Given the description of an element on the screen output the (x, y) to click on. 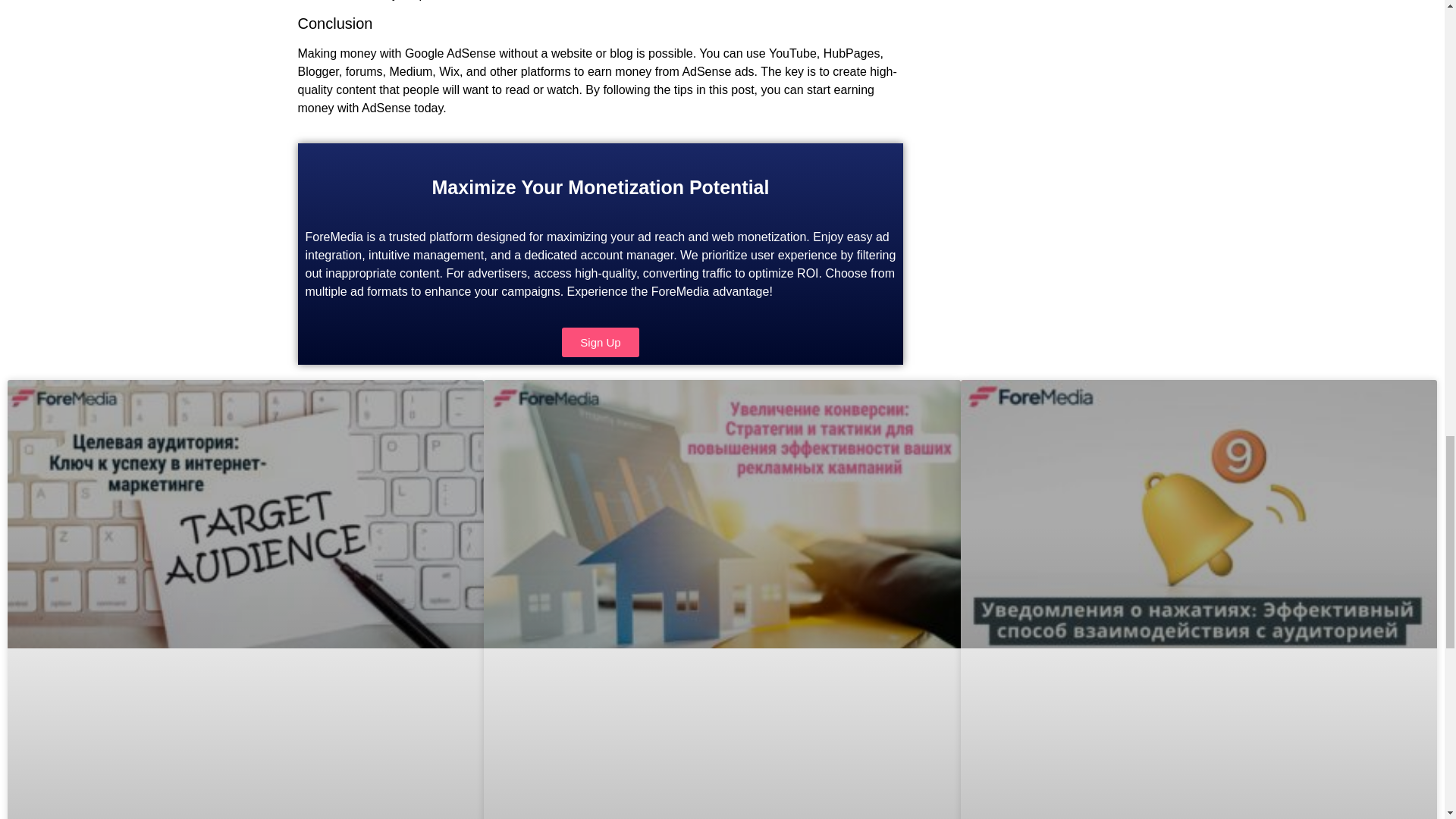
Sign Up (600, 342)
